Given the description of an element on the screen output the (x, y) to click on. 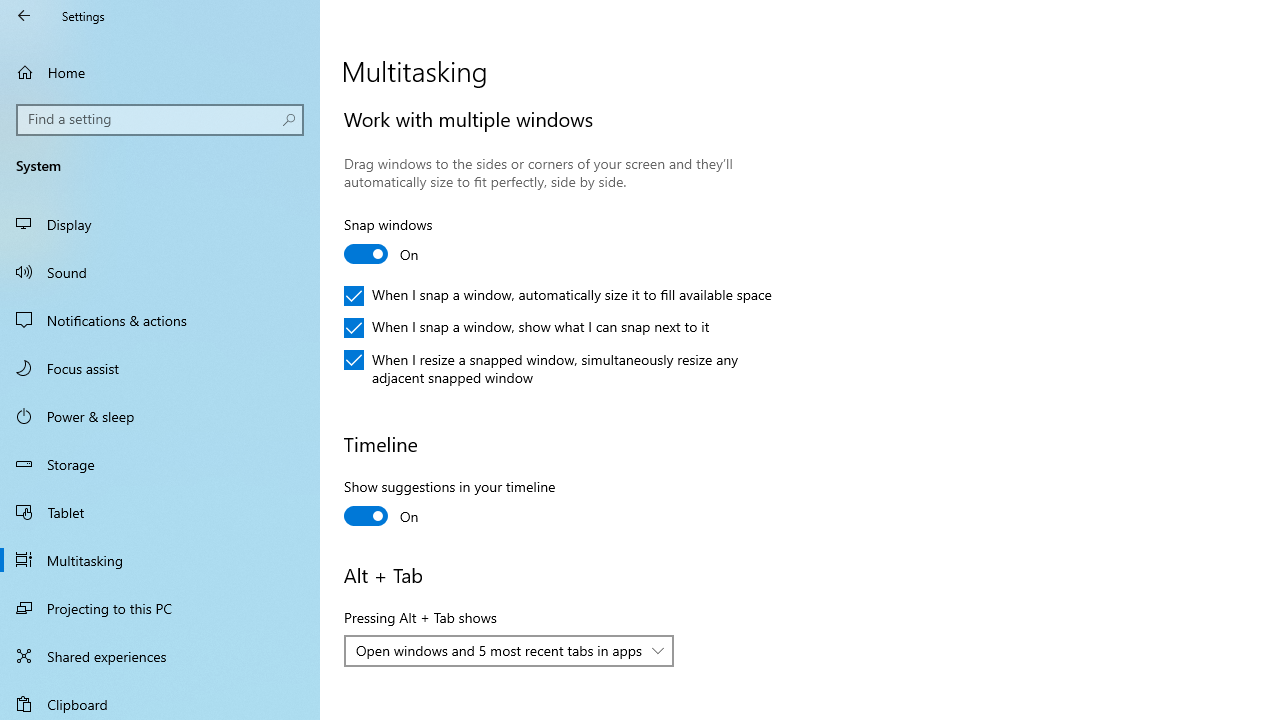
Show suggestions in your timeline (449, 504)
Snap windows (417, 242)
Projecting to this PC (160, 607)
Notifications & actions (160, 319)
Open windows and 5 most recent tabs in apps (498, 650)
Shared experiences (160, 655)
Tablet (160, 511)
Storage (160, 463)
Multitasking (160, 559)
Power & sleep (160, 415)
Sound (160, 271)
Focus assist (160, 367)
